Given the description of an element on the screen output the (x, y) to click on. 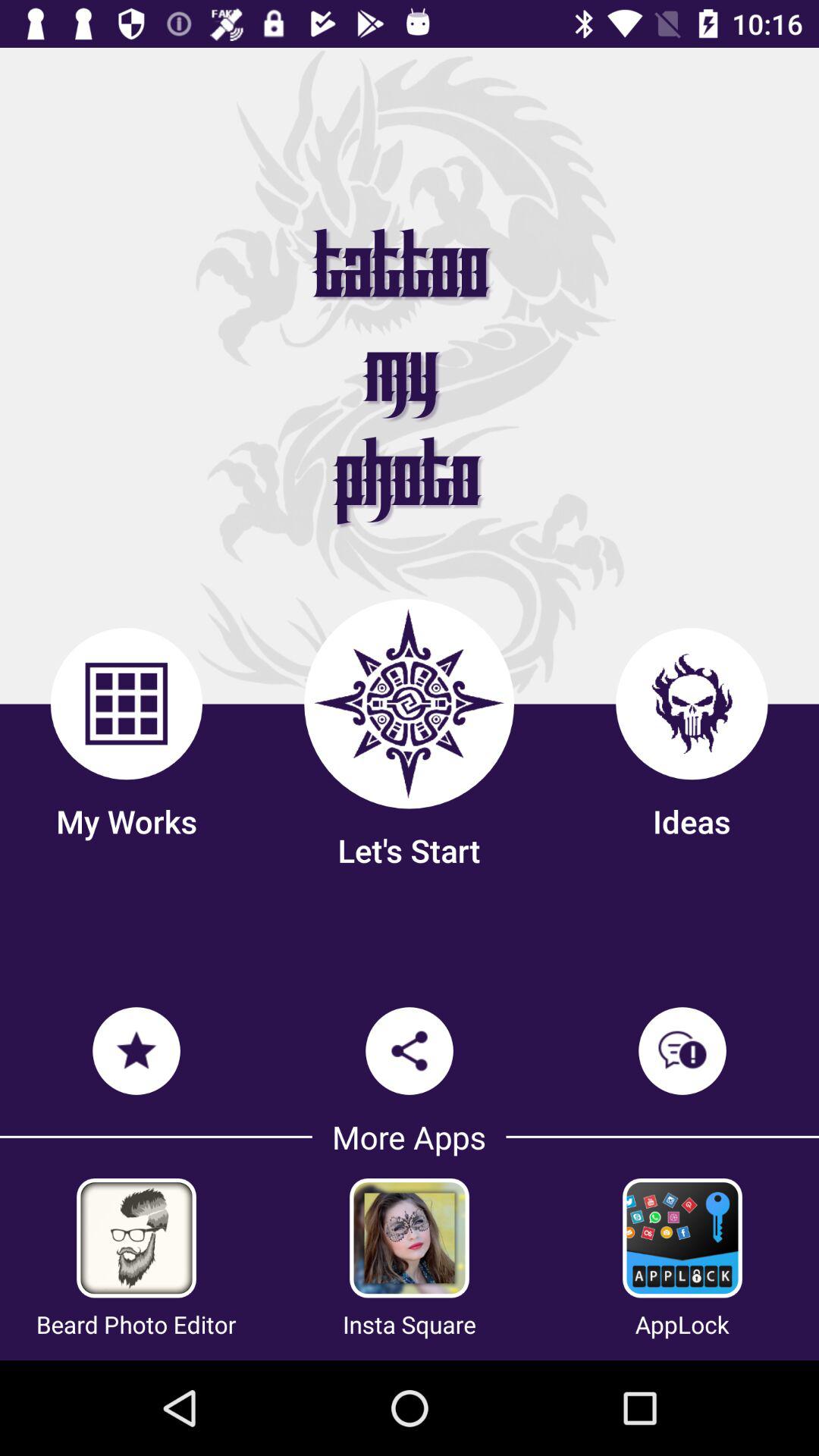
press the item next to the beard photo editor icon (409, 1324)
